Given the description of an element on the screen output the (x, y) to click on. 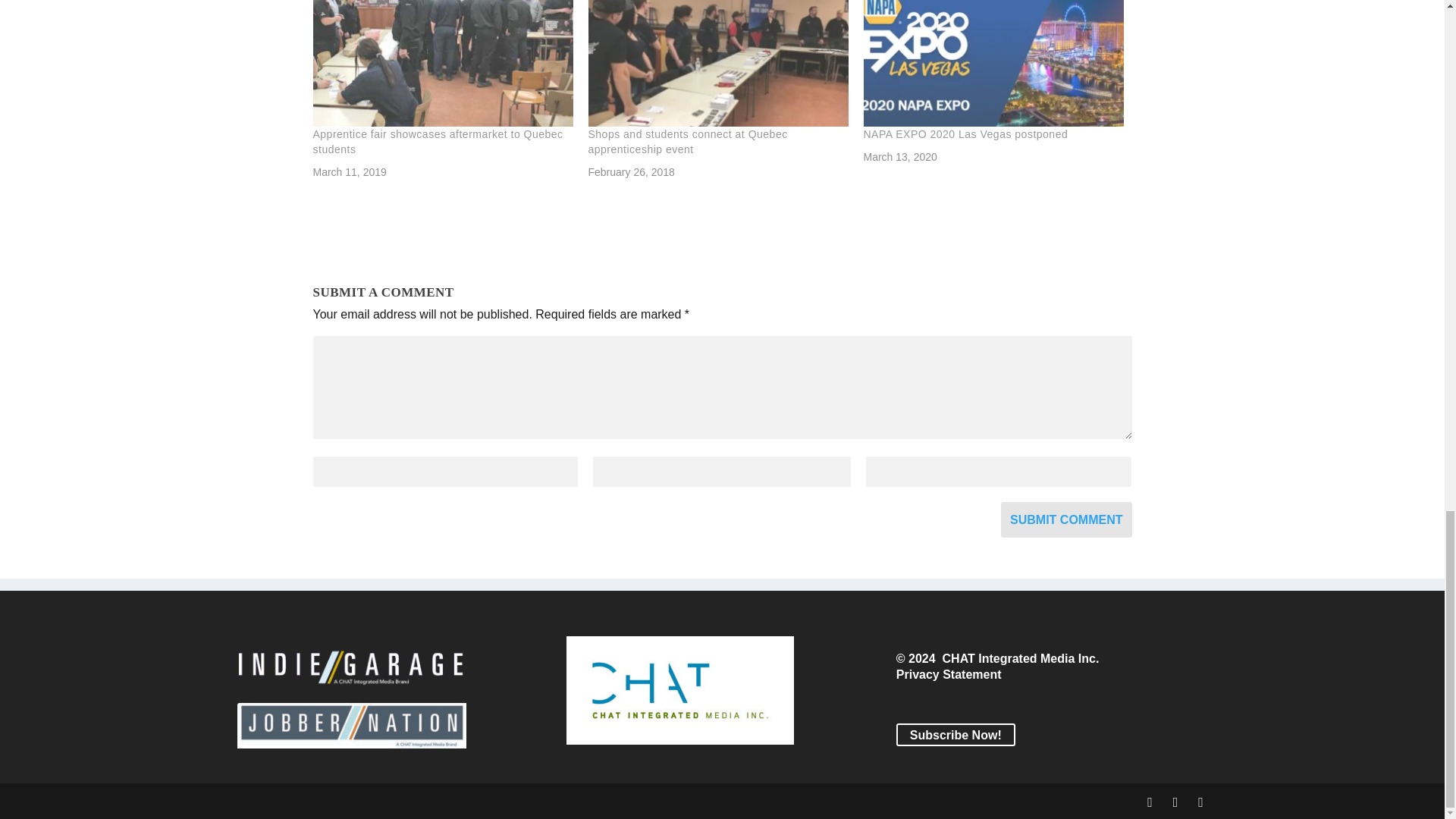
Shops and students connect at Quebec apprenticeship event (718, 63)
NAPA EXPO 2020 Las Vegas postponed (992, 63)
Shops and students connect at Quebec apprenticeship event (687, 141)
NAPA EXPO 2020 Las Vegas postponed (965, 133)
SUBMIT COMMENT (1066, 519)
Shops and students connect at Quebec apprenticeship event (687, 141)
Apprentice fair showcases aftermarket to Quebec students (442, 63)
Apprentice fair showcases aftermarket to Quebec students (437, 141)
Apprentice fair showcases aftermarket to Quebec students (437, 141)
NAPA EXPO 2020 Las Vegas postponed (965, 133)
